Given the description of an element on the screen output the (x, y) to click on. 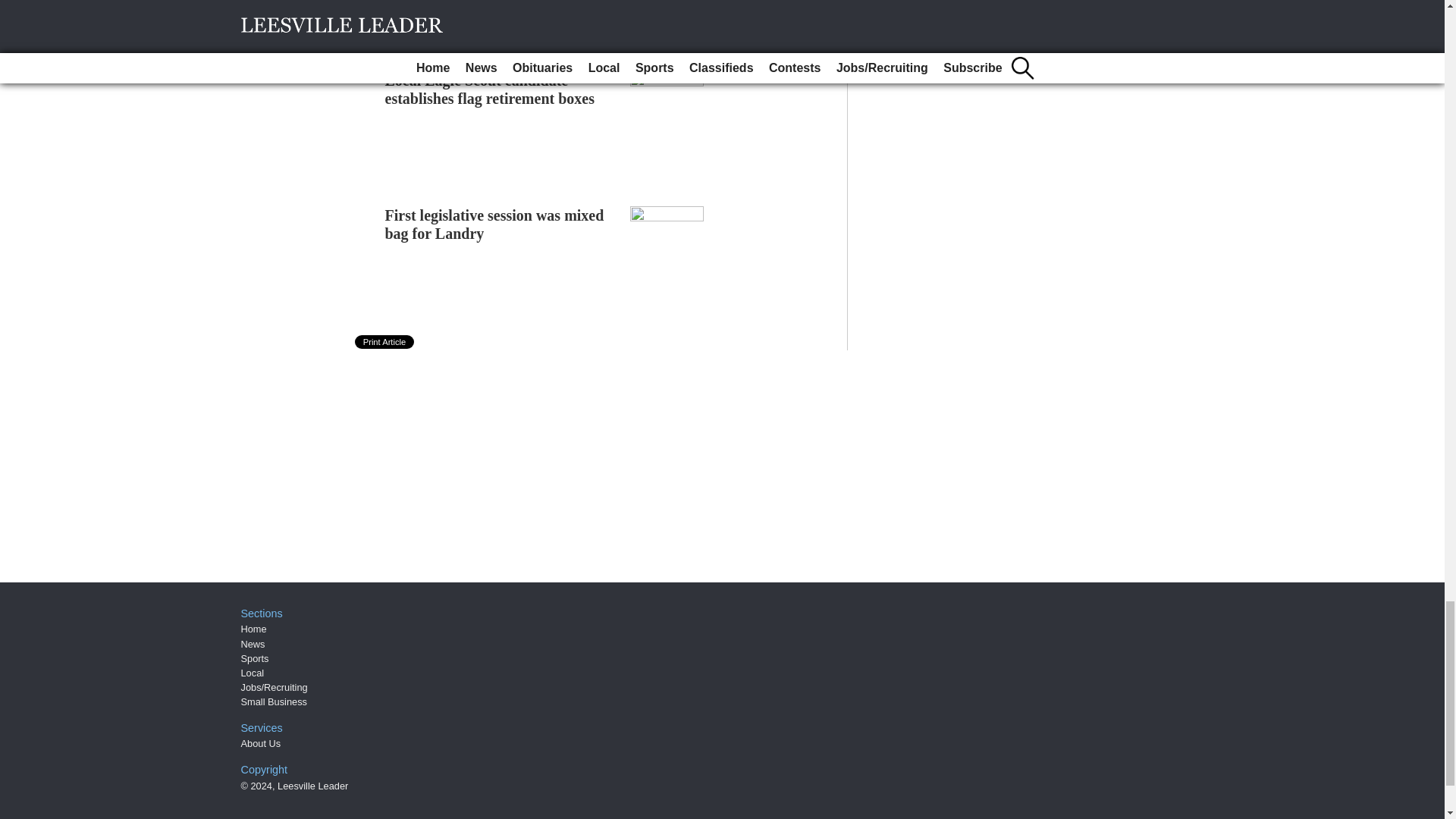
News (252, 644)
Small Business (274, 701)
Sports (255, 658)
First legislative session was mixed bag for Landry (494, 224)
Print Article (384, 341)
Home (253, 628)
About Us (261, 743)
First legislative session was mixed bag for Landry (494, 224)
Local (252, 672)
